Given the description of an element on the screen output the (x, y) to click on. 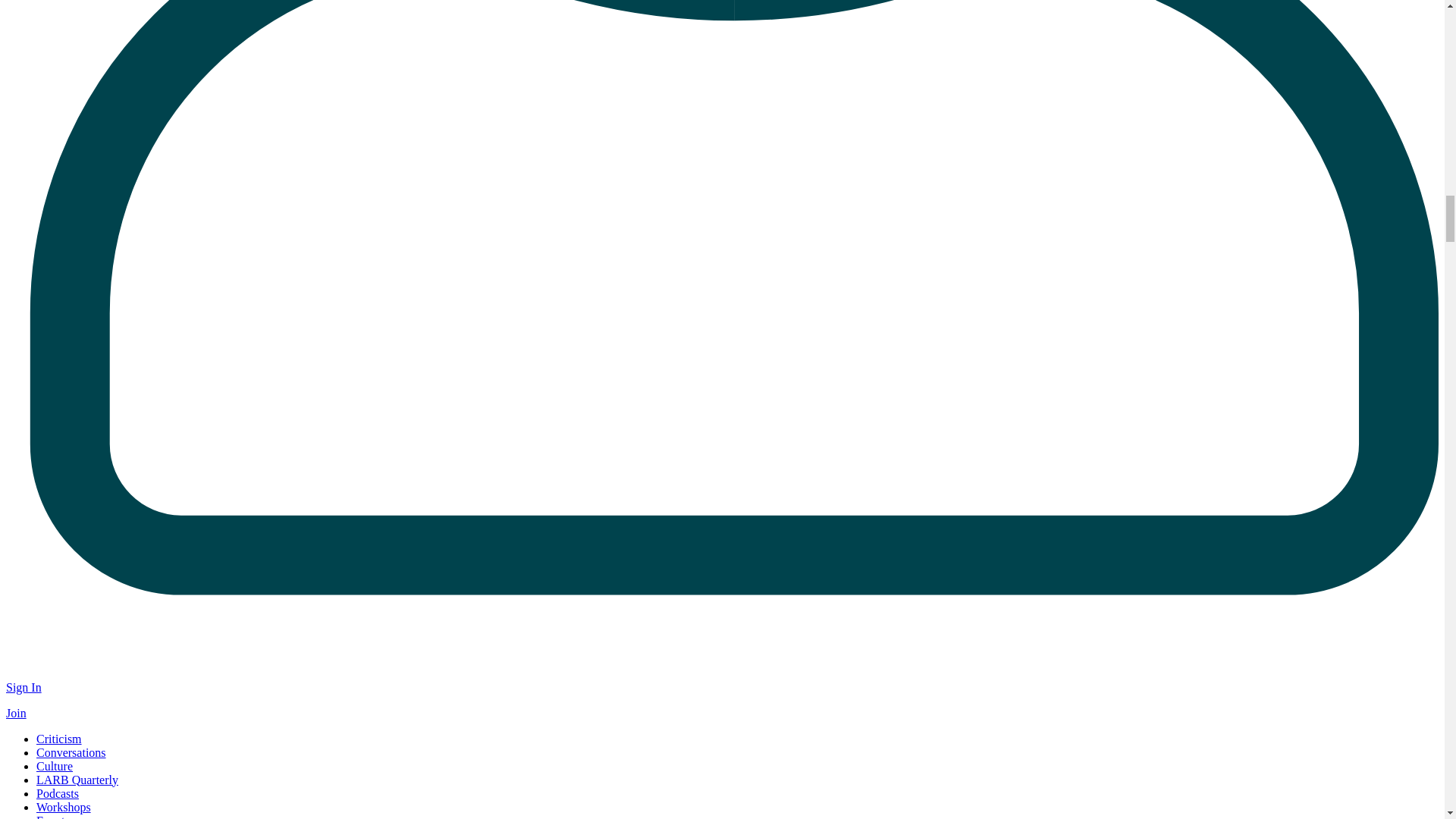
Sign In (23, 686)
Criticism (58, 738)
Culture (54, 766)
Workshops (63, 807)
Conversations (71, 752)
LARB Quarterly (76, 779)
Events (52, 816)
Podcasts (57, 793)
